Given the description of an element on the screen output the (x, y) to click on. 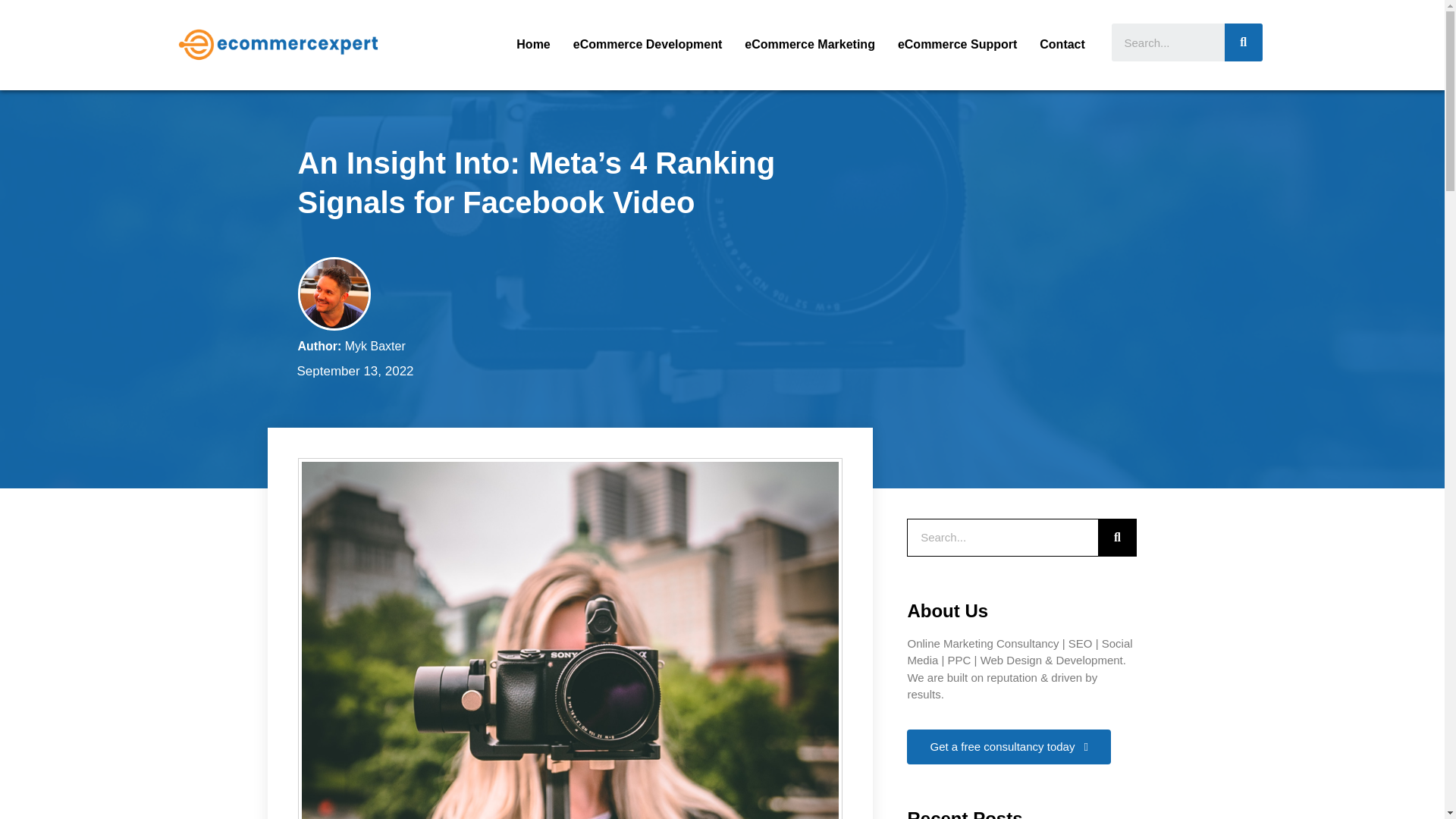
Contact (1061, 44)
Get a free consultancy today (1008, 746)
eCommerce Marketing (809, 44)
Search (1243, 42)
Search (1168, 42)
eCommerce Support (956, 44)
September 13, 2022 (352, 371)
Search (1002, 537)
Home (532, 44)
Search (1116, 537)
